Given the description of an element on the screen output the (x, y) to click on. 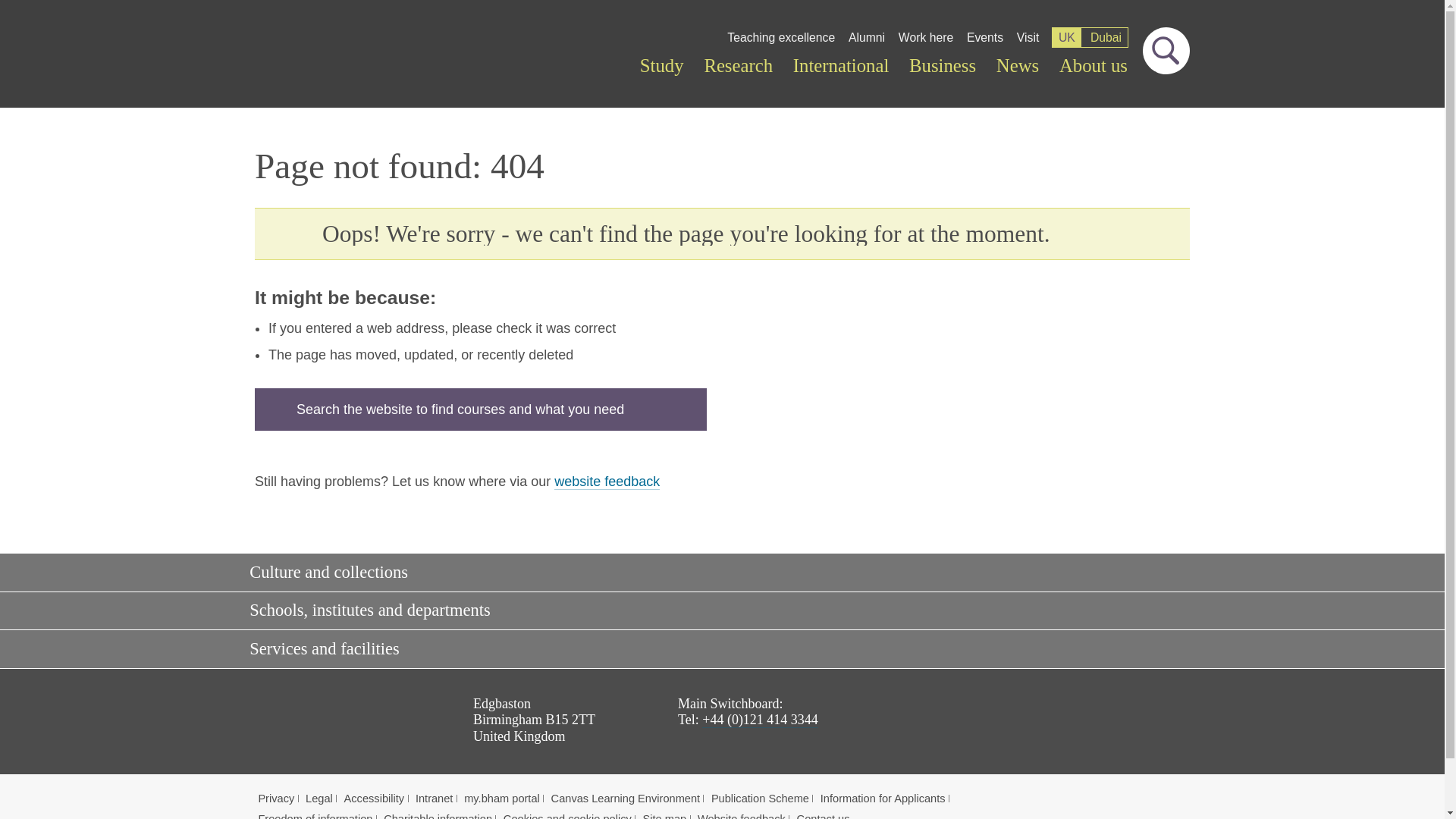
Freedom of information (314, 816)
Twitter (1048, 725)
Dubai (1105, 36)
Schools, institutes and departments (716, 610)
Facebook (1007, 725)
Teaching excellence (780, 37)
Publication Scheme (760, 798)
Search the website to find courses and what you need (480, 409)
Search (480, 409)
Canvas Learning Environment (625, 798)
Alumni (866, 37)
Legal (319, 798)
About us (1093, 66)
University of Birmingham (330, 714)
my.bham portal (502, 798)
